Given the description of an element on the screen output the (x, y) to click on. 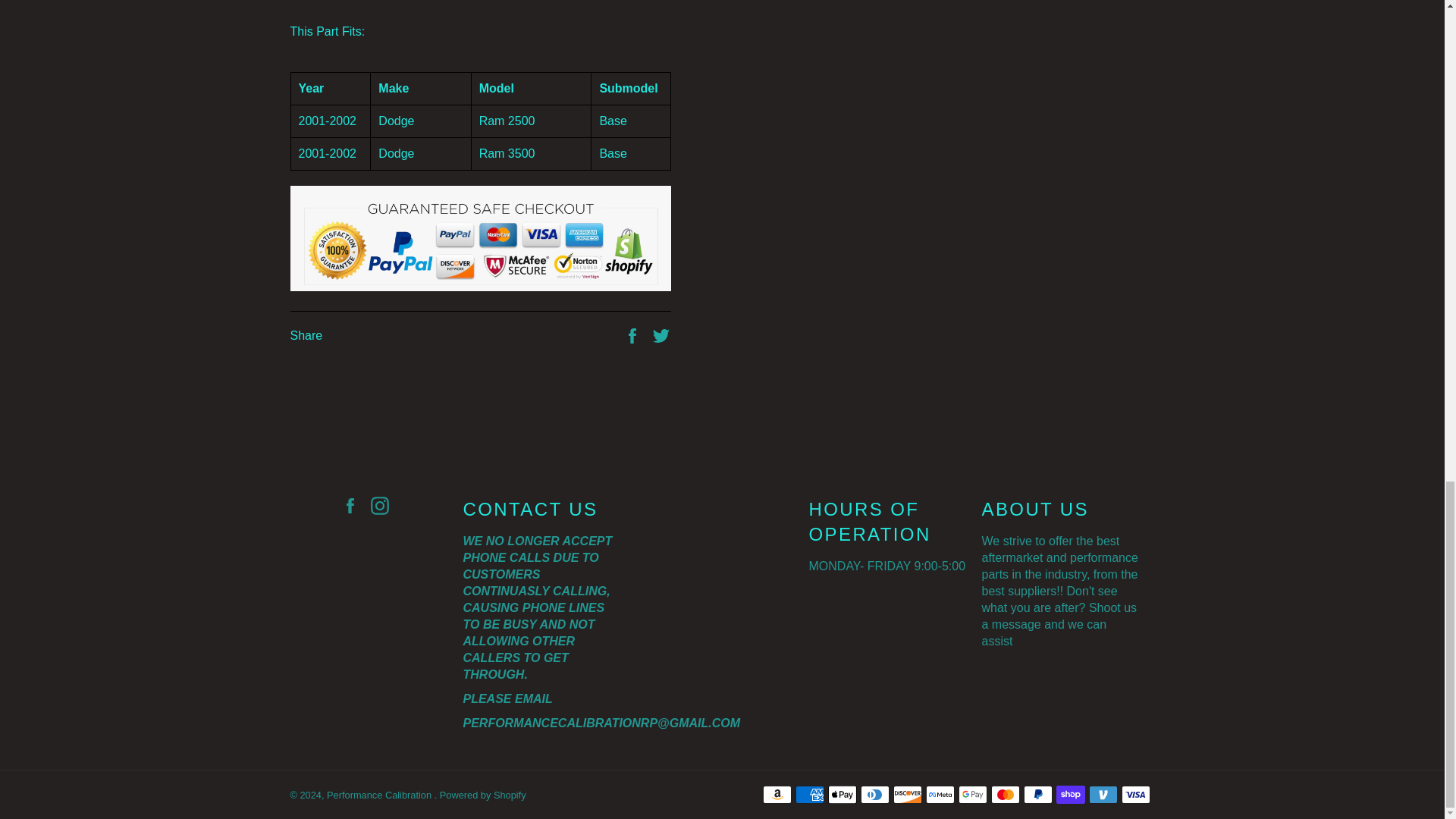
Tweet on Twitter (660, 334)
Performance Calibration  on Instagram (383, 505)
Performance Calibration  on Facebook (353, 505)
Share on Facebook (634, 334)
